Given the description of an element on the screen output the (x, y) to click on. 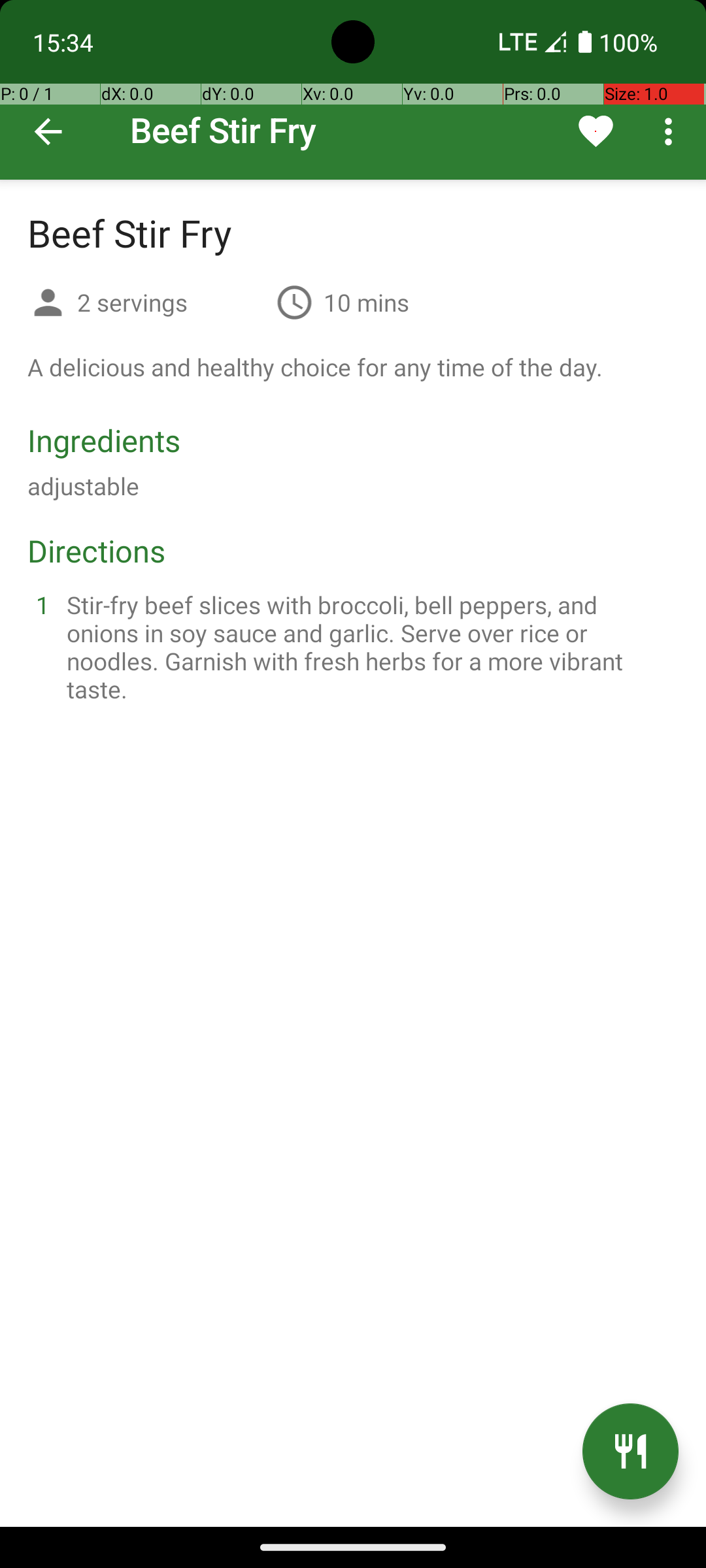
Stir-fry beef slices with broccoli, bell peppers, and onions in soy sauce and garlic. Serve over rice or noodles. Garnish with fresh herbs for a more vibrant taste. Element type: android.widget.TextView (368, 646)
